Given the description of an element on the screen output the (x, y) to click on. 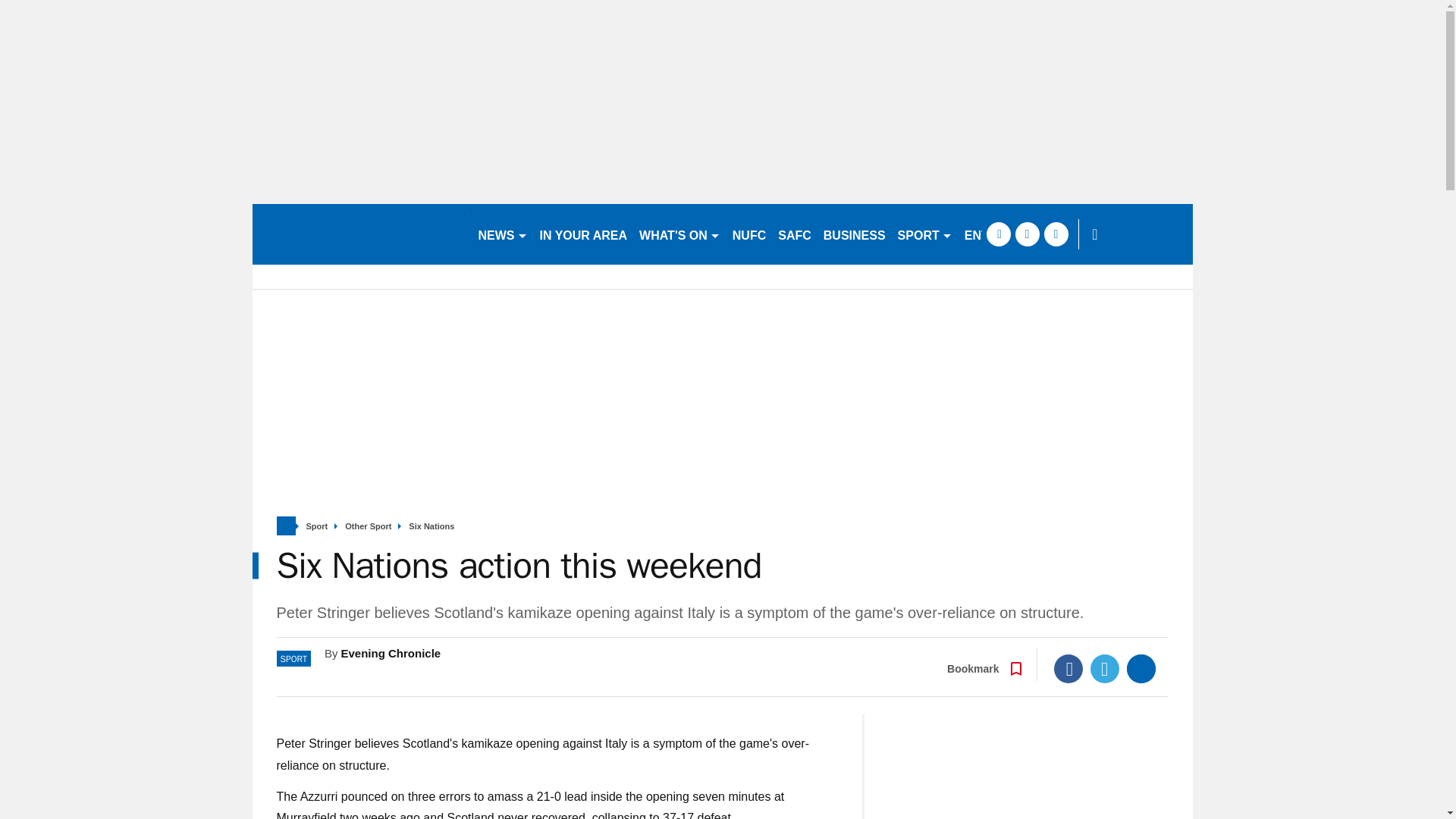
twitter (1026, 233)
Twitter (1104, 668)
SPORT (924, 233)
nechronicle (357, 233)
NEWS (501, 233)
instagram (1055, 233)
IN YOUR AREA (583, 233)
Facebook (1068, 668)
facebook (997, 233)
BUSINESS (853, 233)
